Given the description of an element on the screen output the (x, y) to click on. 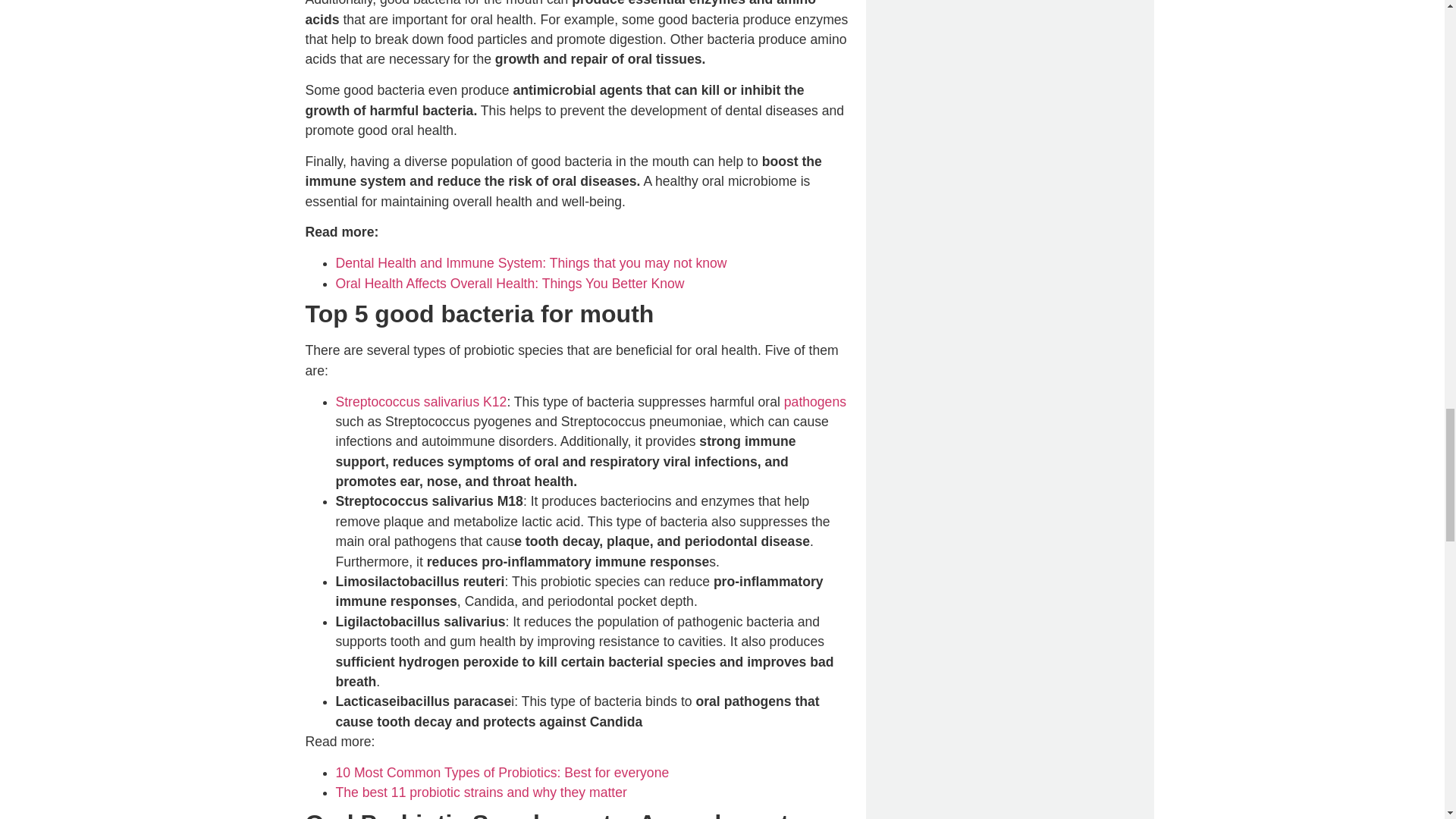
Oral Health Affects Overall Health: Things You Better Know (509, 283)
pathogens (814, 401)
Streptococcus salivarius K12 (420, 401)
The (347, 792)
best 11 (384, 792)
10 Most Common Types of Probiotics: Best for everyone (501, 772)
and why they matter (565, 792)
probiotic strains (455, 792)
